Given the description of an element on the screen output the (x, y) to click on. 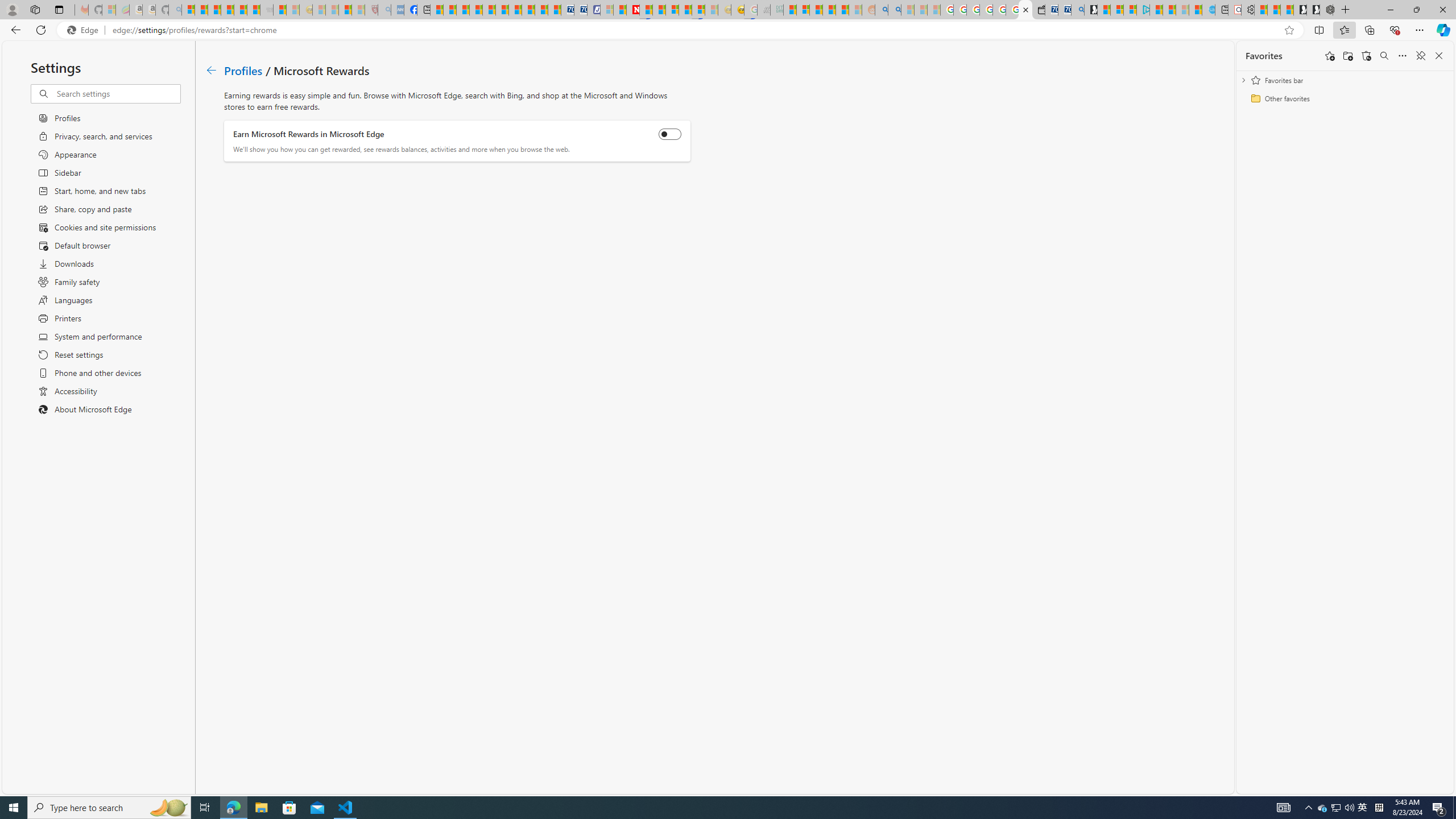
The Weather Channel - MSN (213, 9)
Profiles (243, 69)
Latest Politics News & Archive | Newsweek.com (633, 9)
Class: c01179 (210, 70)
12 Popular Science Lies that Must be Corrected - Sleeping (357, 9)
Search settings (117, 93)
